Given the description of an element on the screen output the (x, y) to click on. 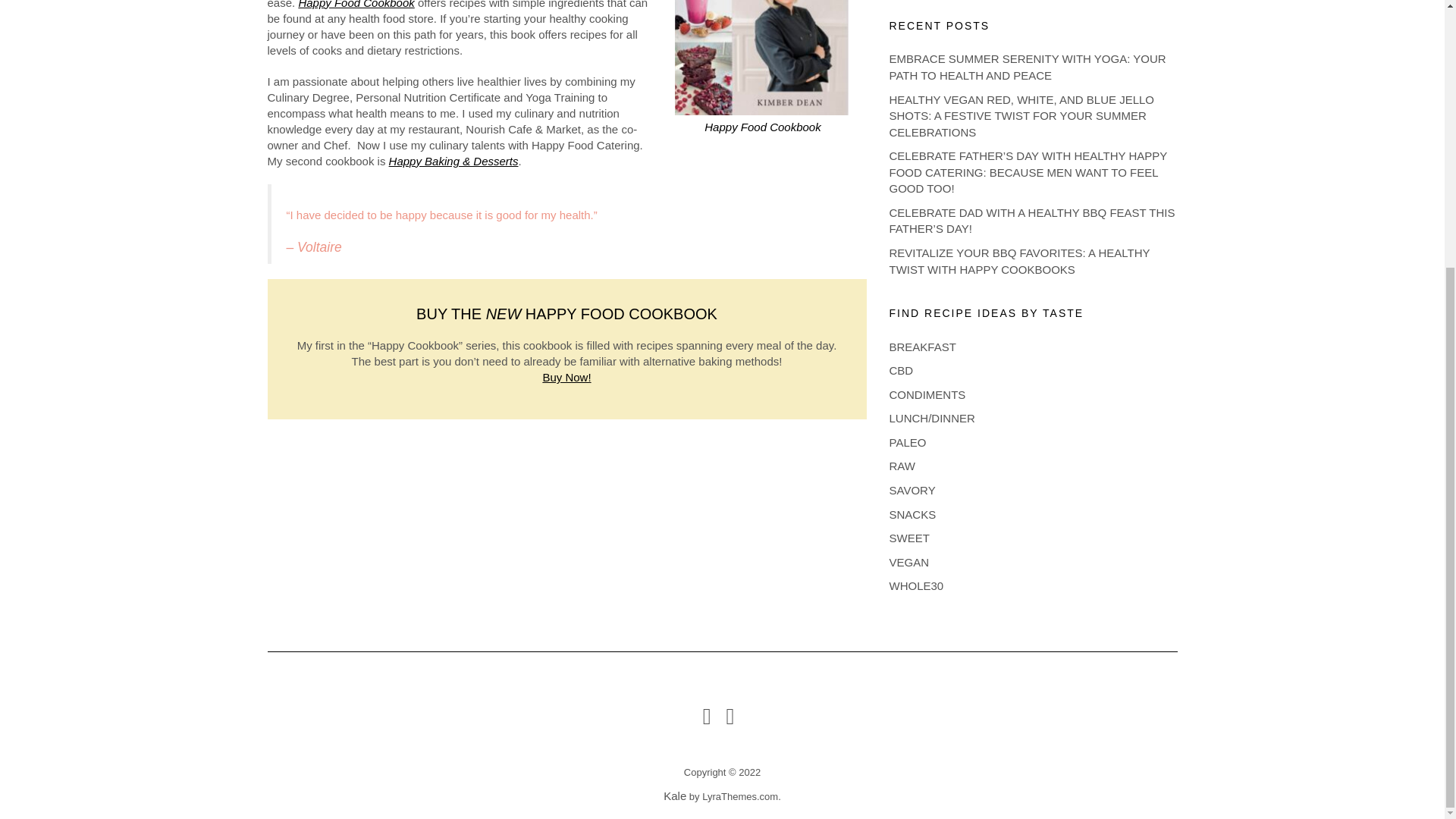
SWEET (908, 537)
CONDIMENTS (926, 394)
SNACKS (912, 513)
RAW (901, 465)
CBD (900, 369)
Happy Food Cookbook (355, 4)
Buy Now! (566, 377)
Happy Food Cookbook (762, 126)
SAVORY (911, 490)
BREAKFAST (921, 346)
PALEO (907, 441)
VEGAN (908, 562)
